Given the description of an element on the screen output the (x, y) to click on. 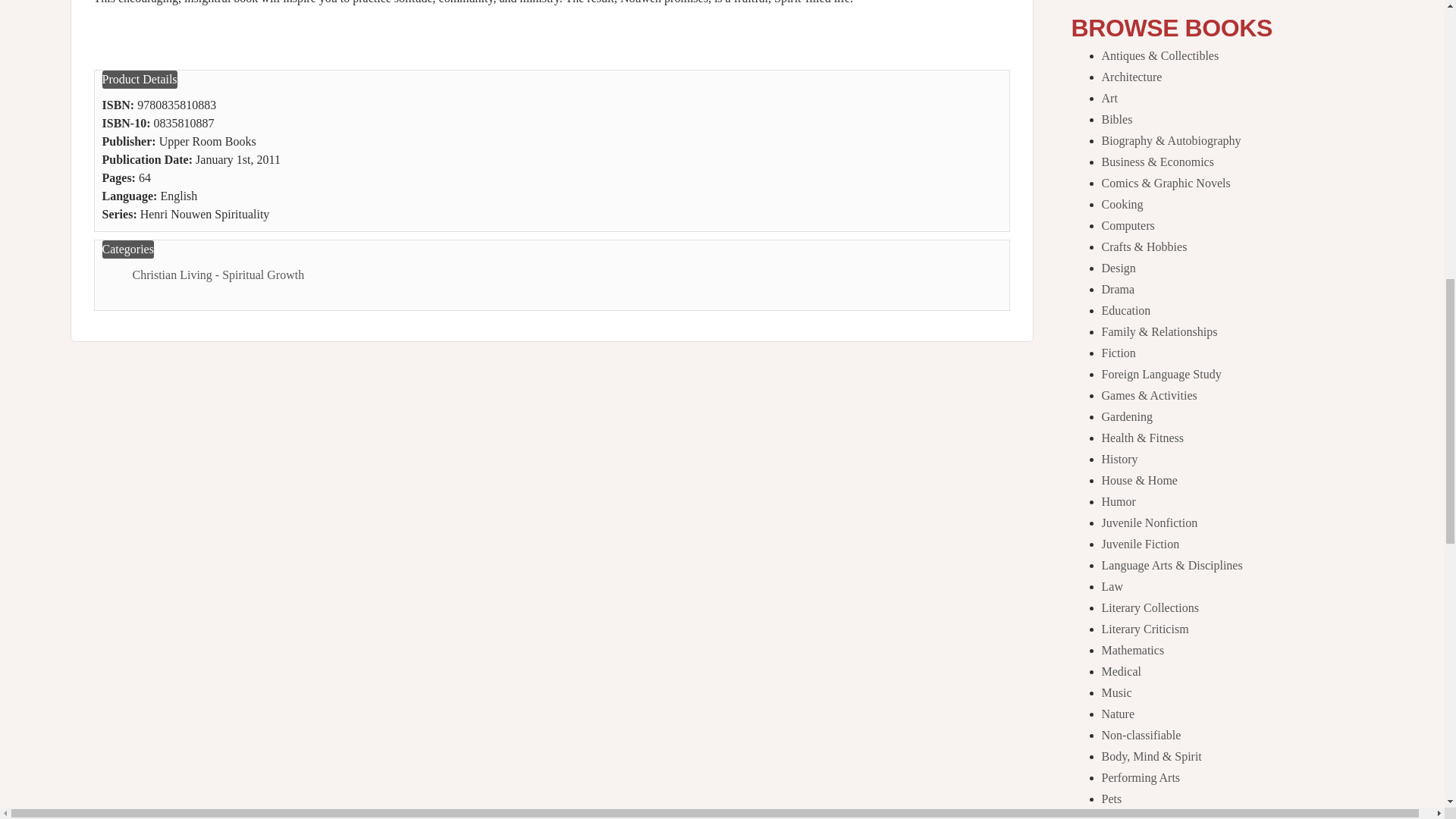
Education (1125, 309)
Bibles (1116, 119)
Cooking (1121, 204)
Art (1108, 97)
Drama (1117, 288)
Architecture (1130, 76)
Design (1117, 267)
Computers (1127, 225)
Christian Living - Spiritual Growth (218, 274)
